Given the description of an element on the screen output the (x, y) to click on. 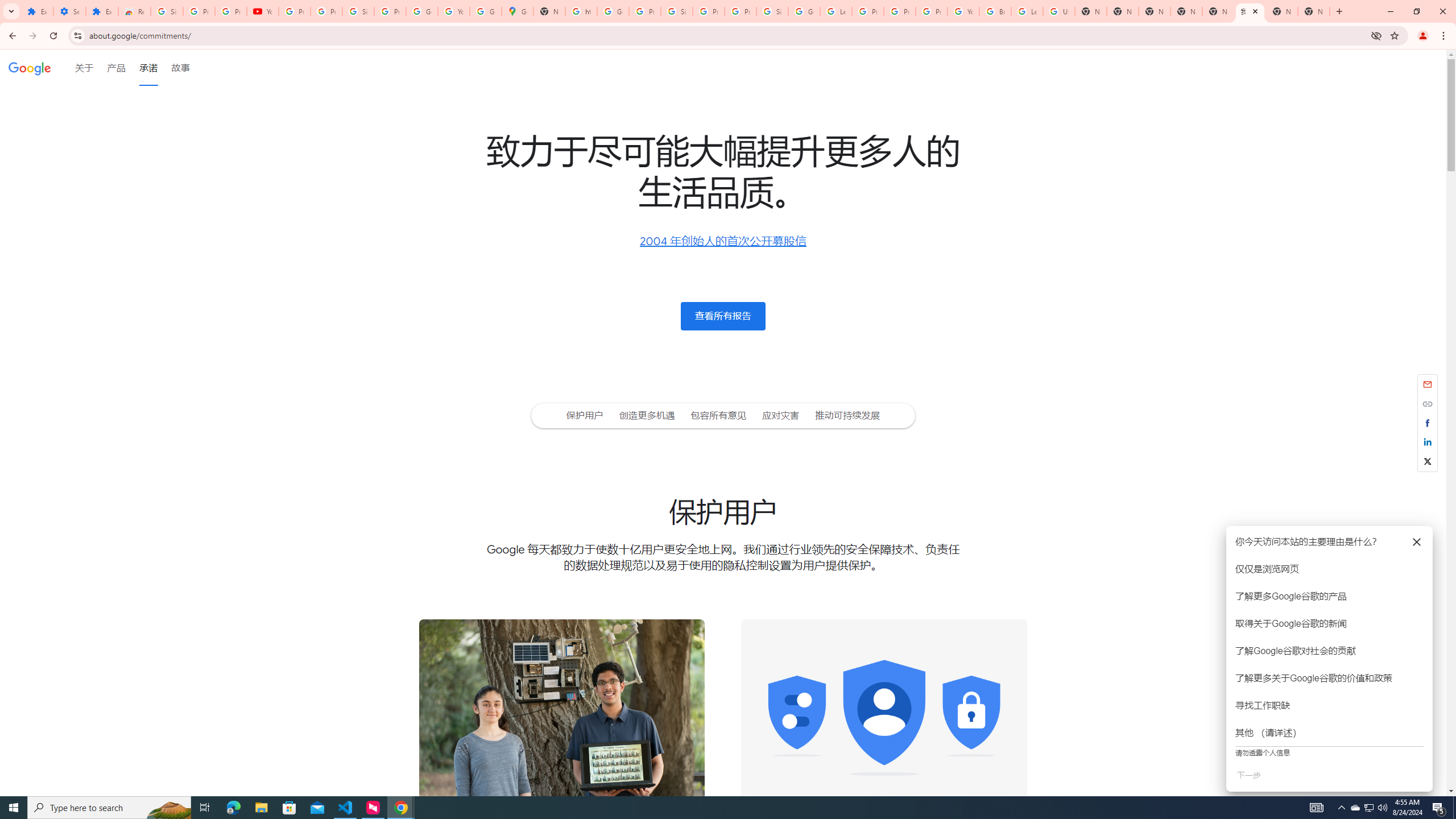
Privacy Help Center - Policies Help (899, 11)
https://scholar.google.com/ (581, 11)
Reviews: Helix Fruit Jump Arcade Game (134, 11)
